Given the description of an element on the screen output the (x, y) to click on. 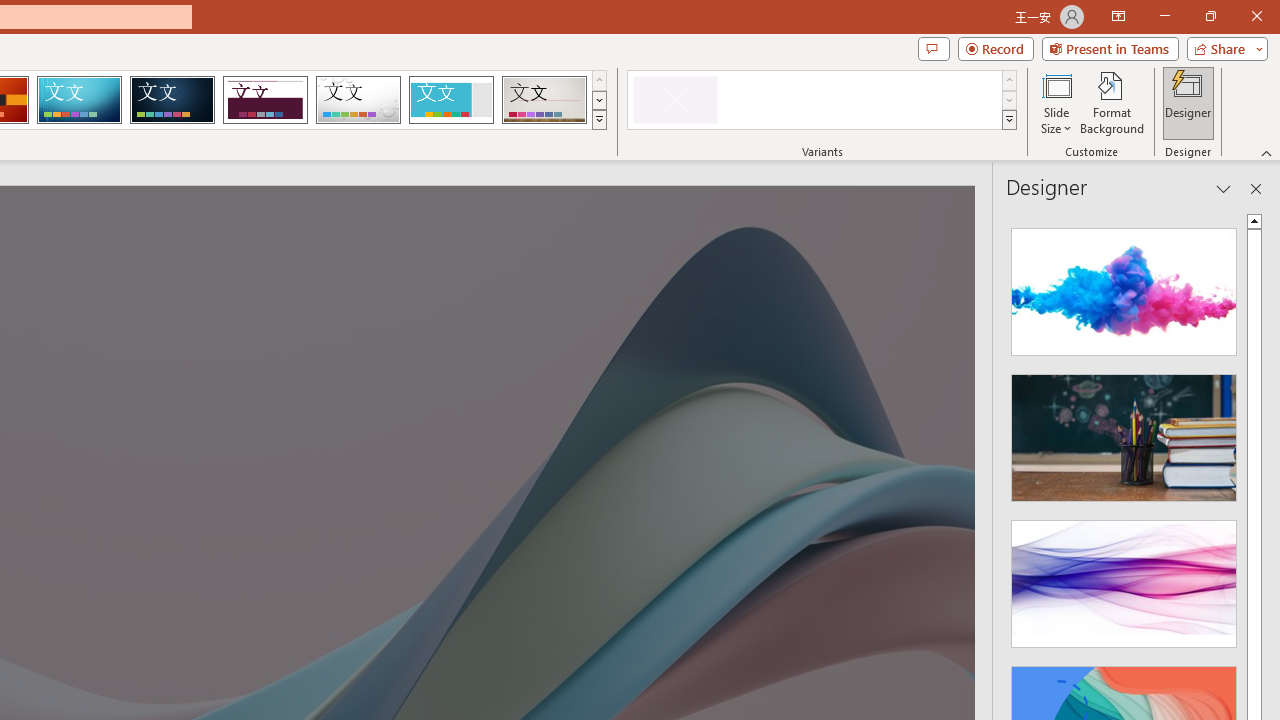
Slide Size (1056, 102)
Frame (450, 100)
Damask (171, 100)
Design Idea (1124, 577)
Format Background (1111, 102)
Circuit (79, 100)
Dividend (265, 100)
Variants (1009, 120)
